Given the description of an element on the screen output the (x, y) to click on. 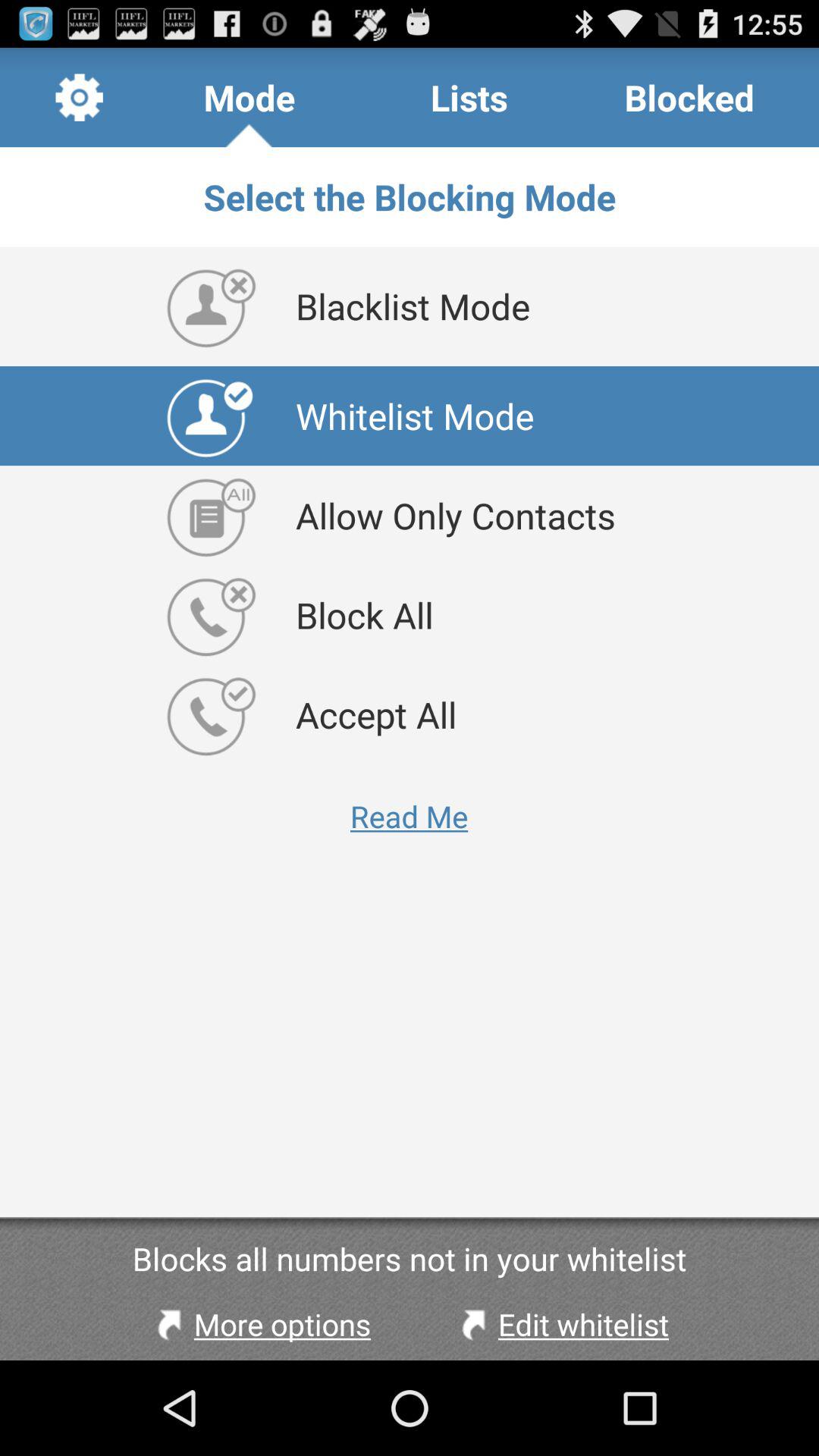
turn on blocked icon (689, 97)
